Given the description of an element on the screen output the (x, y) to click on. 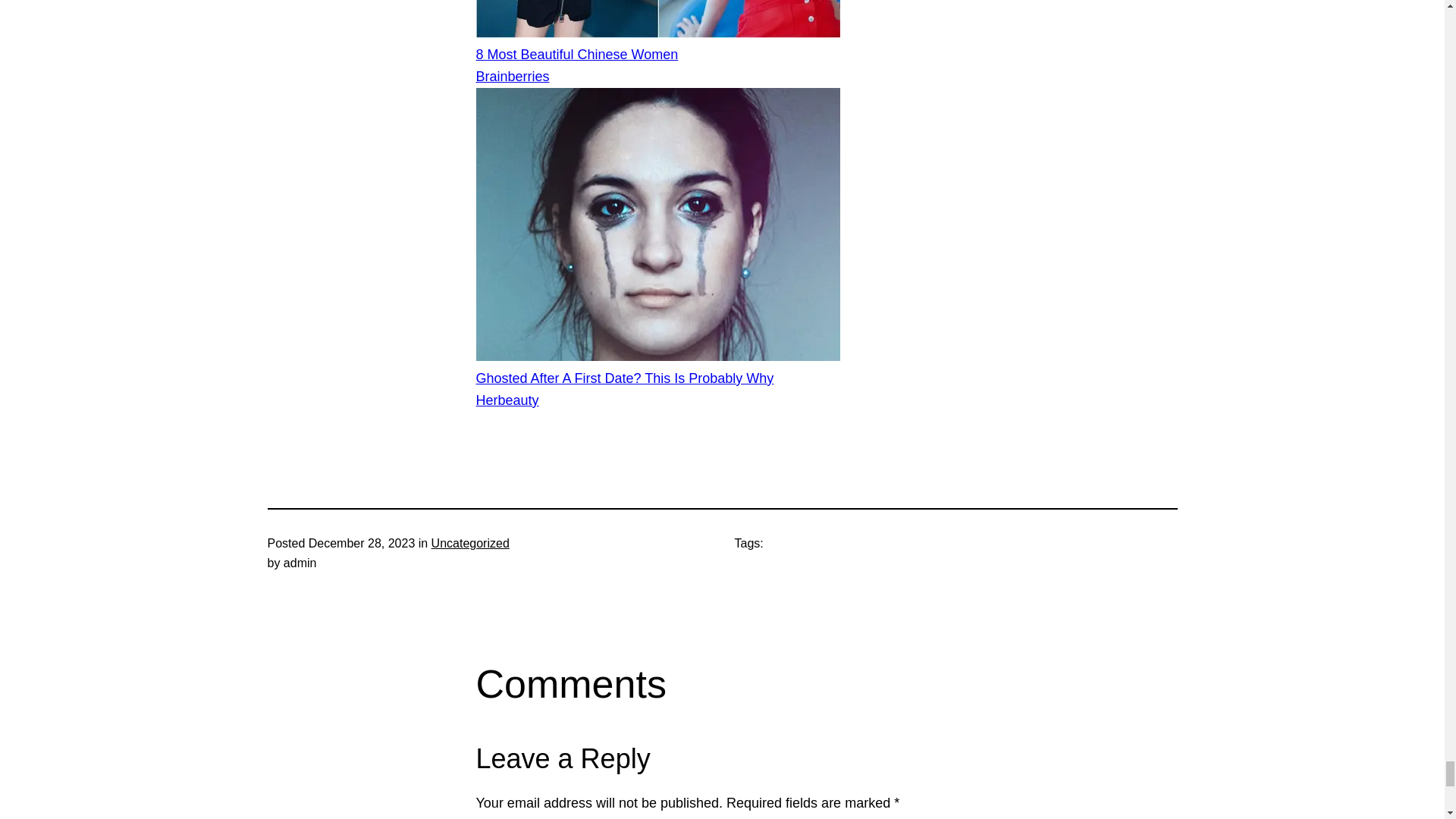
Uncategorized (469, 543)
